Given the description of an element on the screen output the (x, y) to click on. 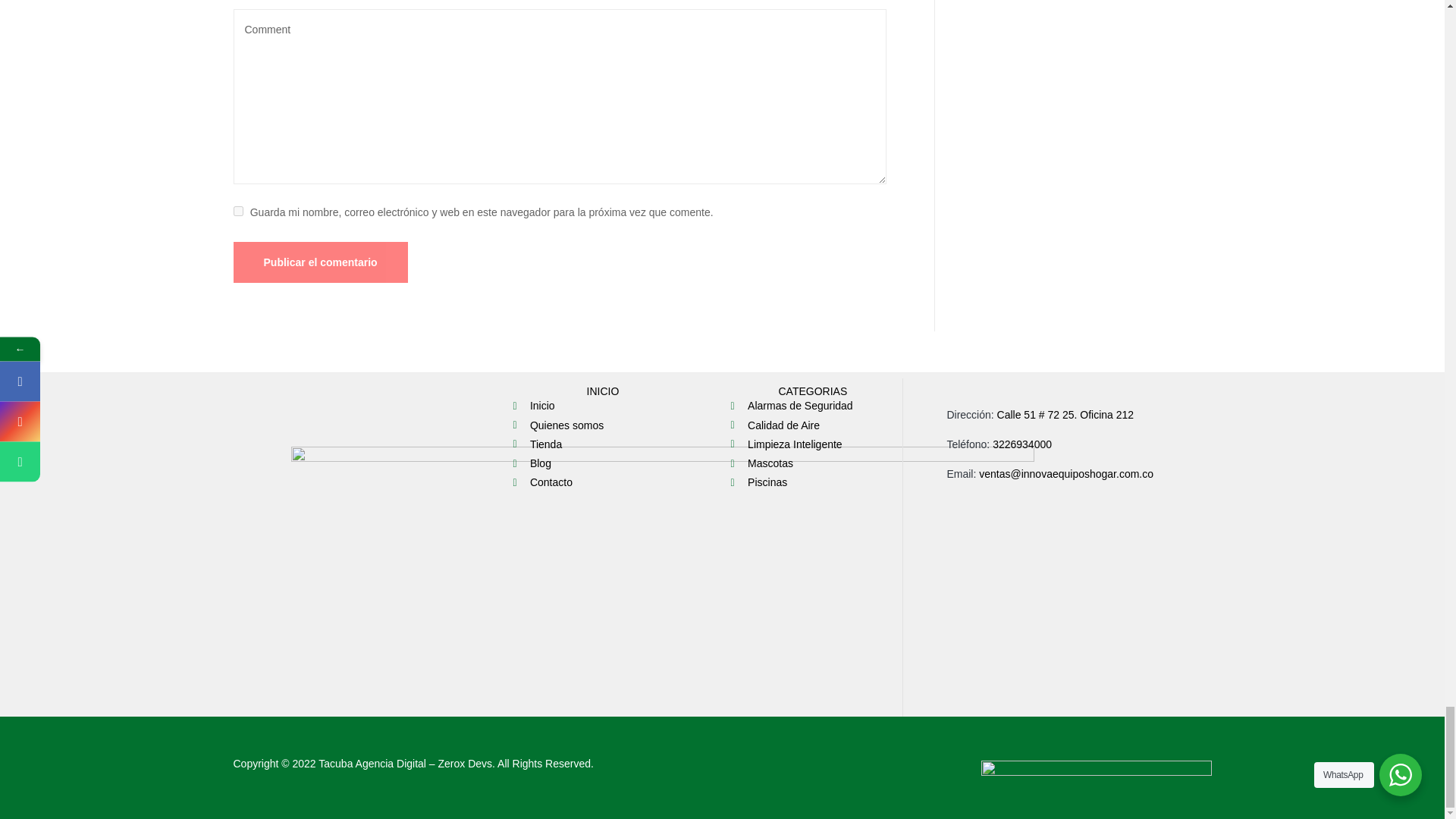
yes (237, 211)
Publicar el comentario (319, 261)
